Given the description of an element on the screen output the (x, y) to click on. 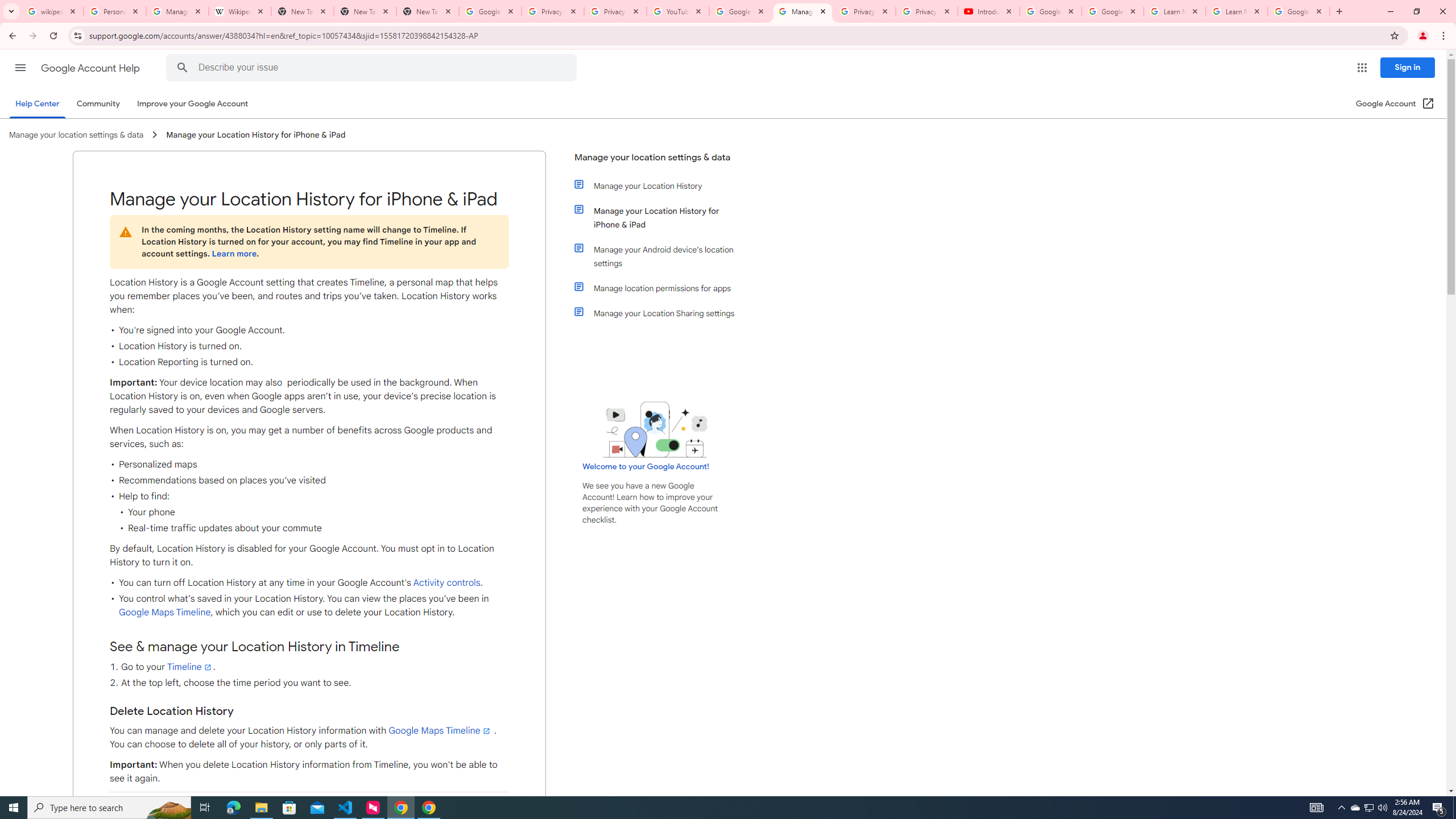
Manage your Location History - Google Search Help (177, 11)
Manage your Location Sharing settings (661, 312)
Google Account (1298, 11)
YouTube (678, 11)
Google Account Help (740, 11)
Manage your Location History (661, 185)
